Given the description of an element on the screen output the (x, y) to click on. 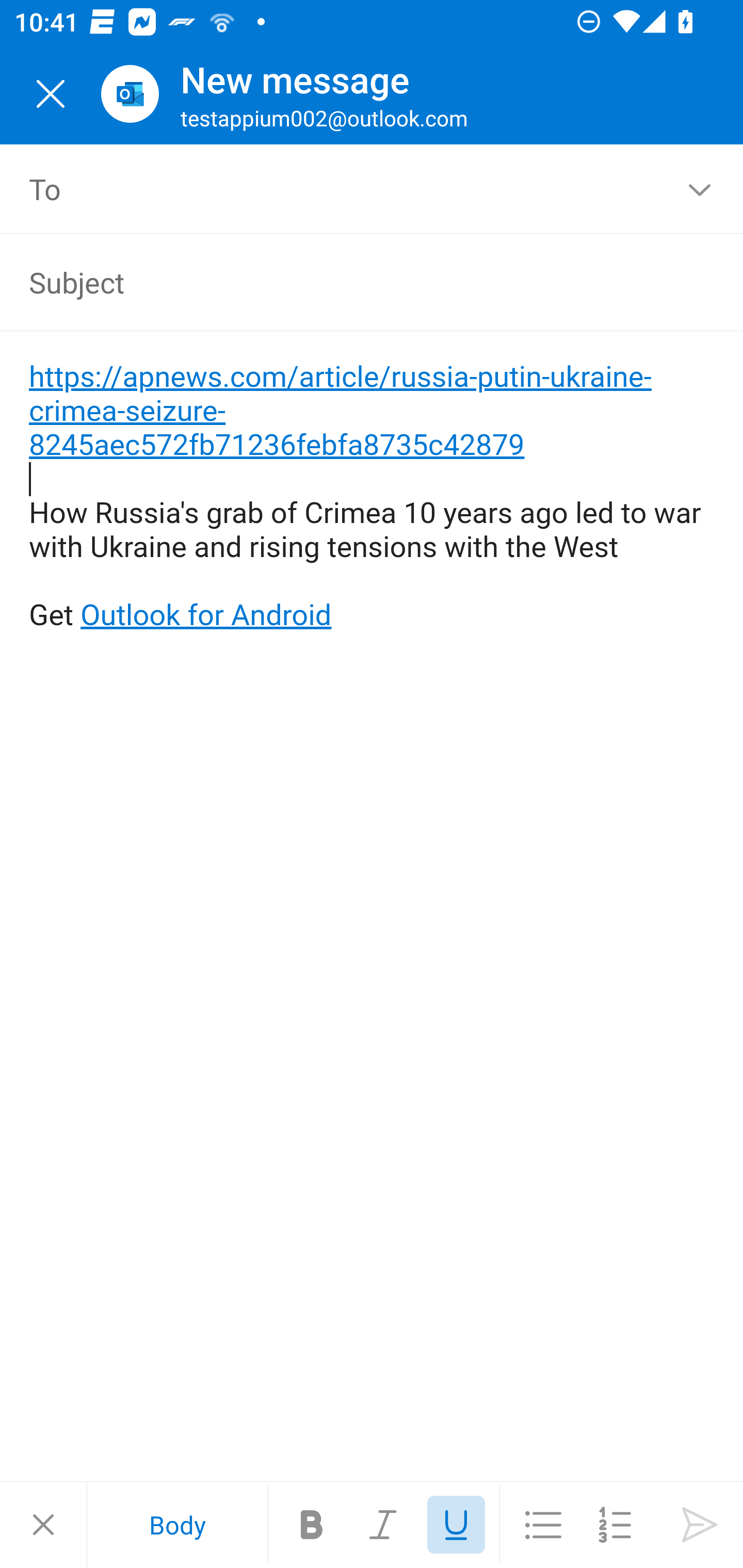
Close (50, 93)
Subject (342, 281)
Close (43, 1524)
Send (699, 1524)
Font style button body Body (176, 1524)
Bold (311, 1524)
Italics (384, 1524)
Selected Underline (456, 1524)
Bulleted list (543, 1524)
Numbered list (615, 1524)
